Given the description of an element on the screen output the (x, y) to click on. 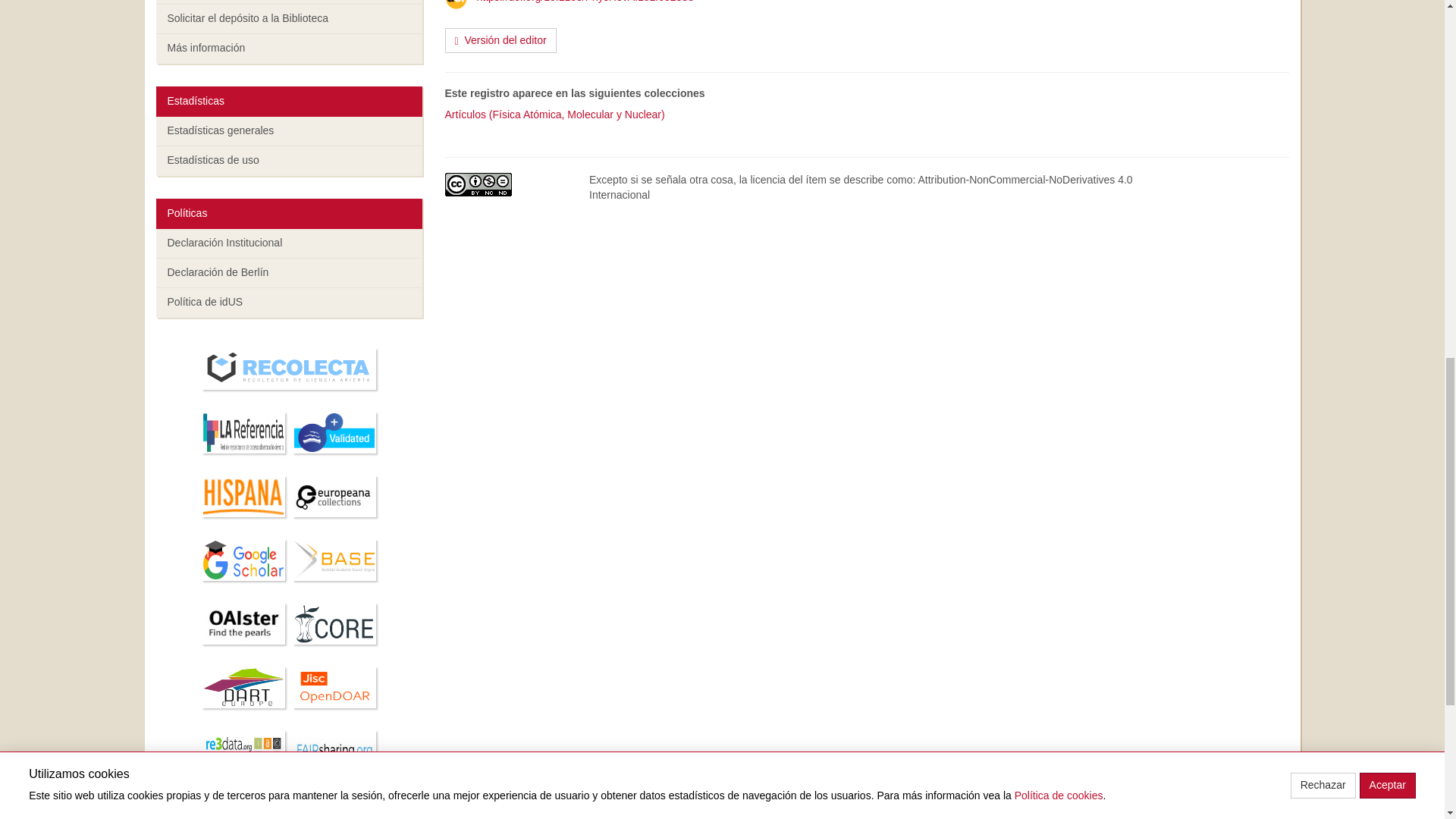
LA Referencia (243, 435)
Recolecta (289, 371)
OpenAIRE (334, 435)
